Given the description of an element on the screen output the (x, y) to click on. 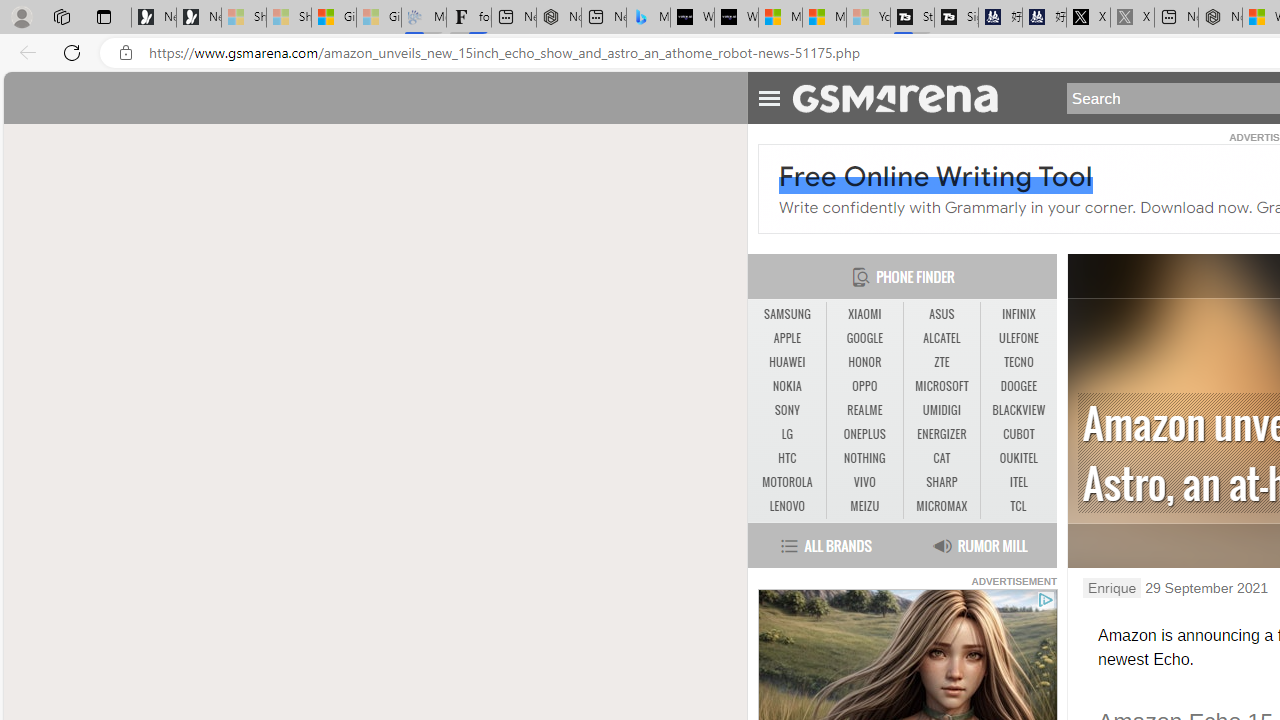
XIAOMI (863, 313)
CUBOT (1018, 434)
BLACKVIEW (1018, 411)
LENOVO (786, 506)
MICROSOFT (941, 386)
NOTHING (864, 458)
AutomationID: anchor (904, 97)
BLACKVIEW (1018, 410)
HTC (786, 457)
NOKIA (786, 386)
